Given the description of an element on the screen output the (x, y) to click on. 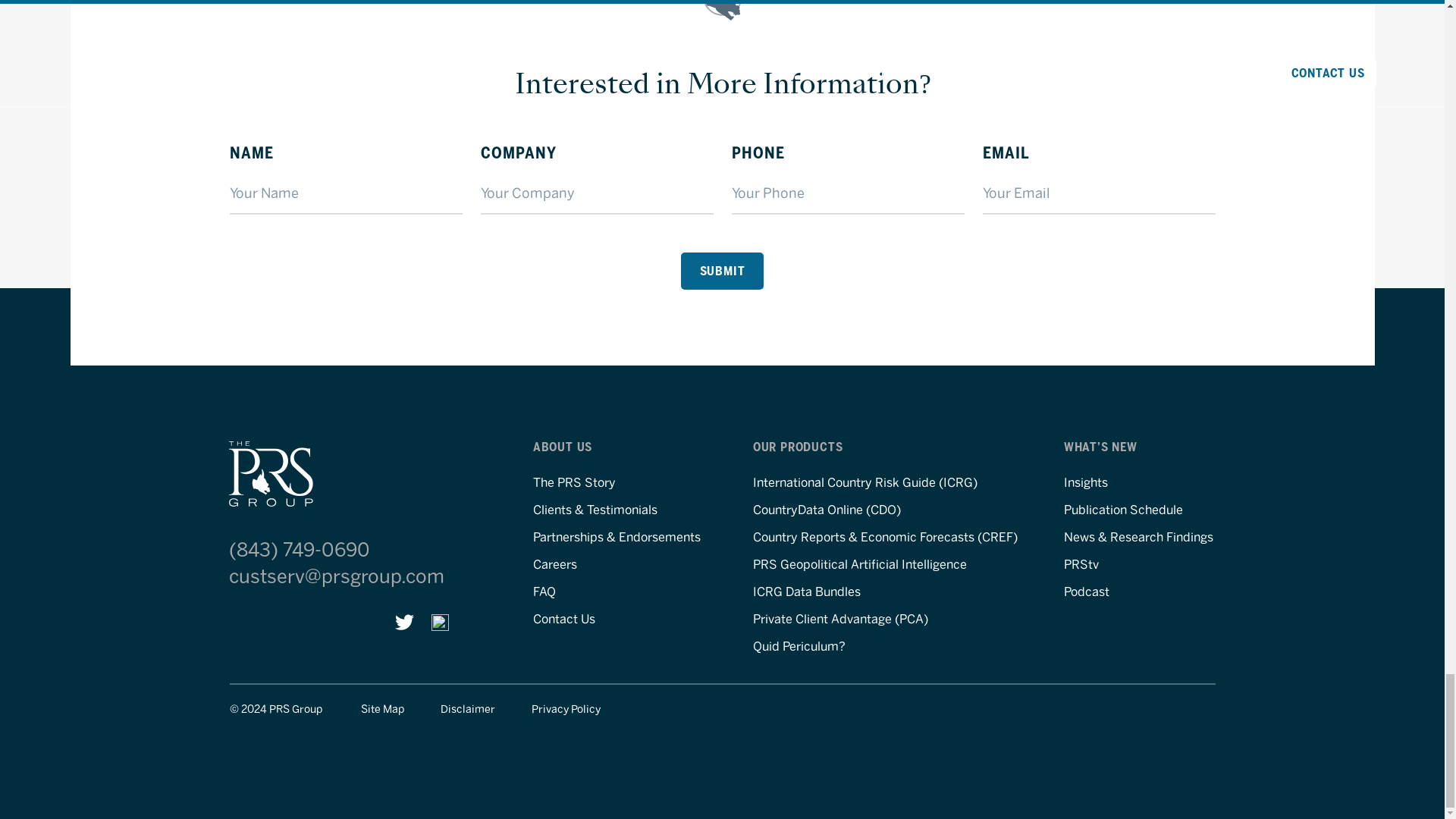
Submit (722, 270)
